Given the description of an element on the screen output the (x, y) to click on. 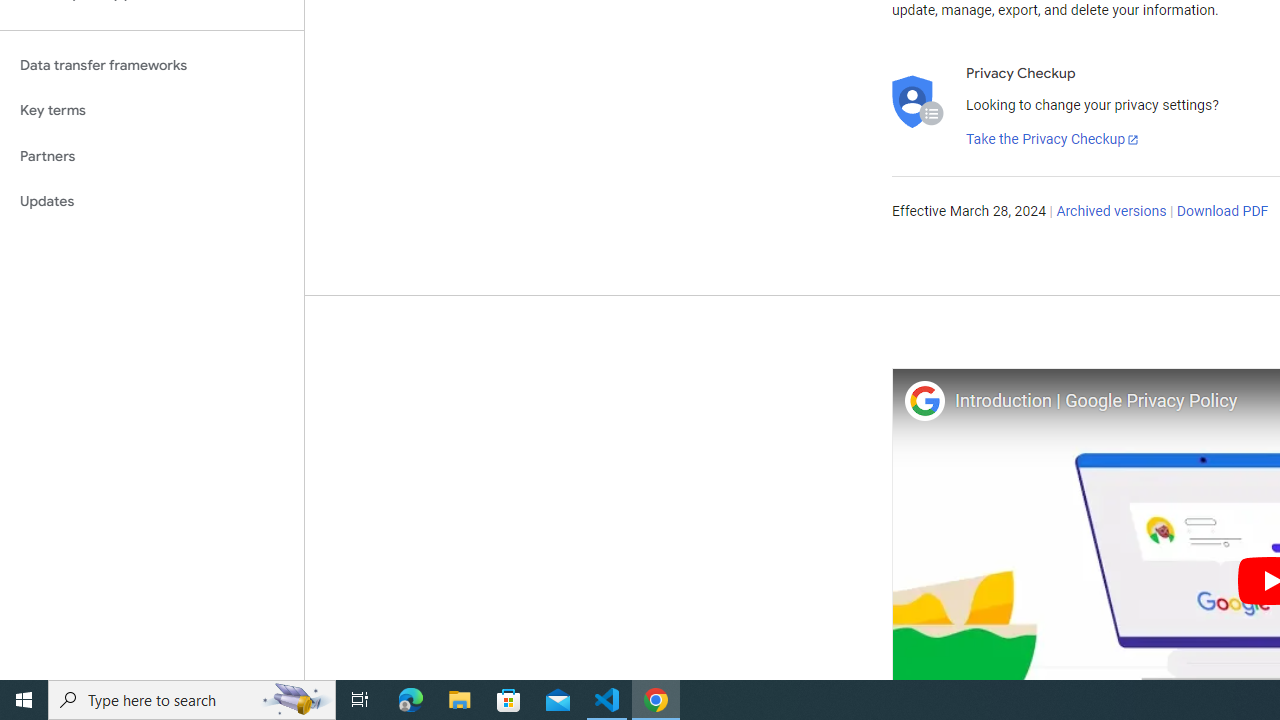
Download PDF (1222, 212)
Photo image of Google (924, 400)
Data transfer frameworks (152, 65)
Take the Privacy Checkup (1053, 140)
Key terms (152, 110)
Archived versions (1111, 212)
Partners (152, 156)
